Given the description of an element on the screen output the (x, y) to click on. 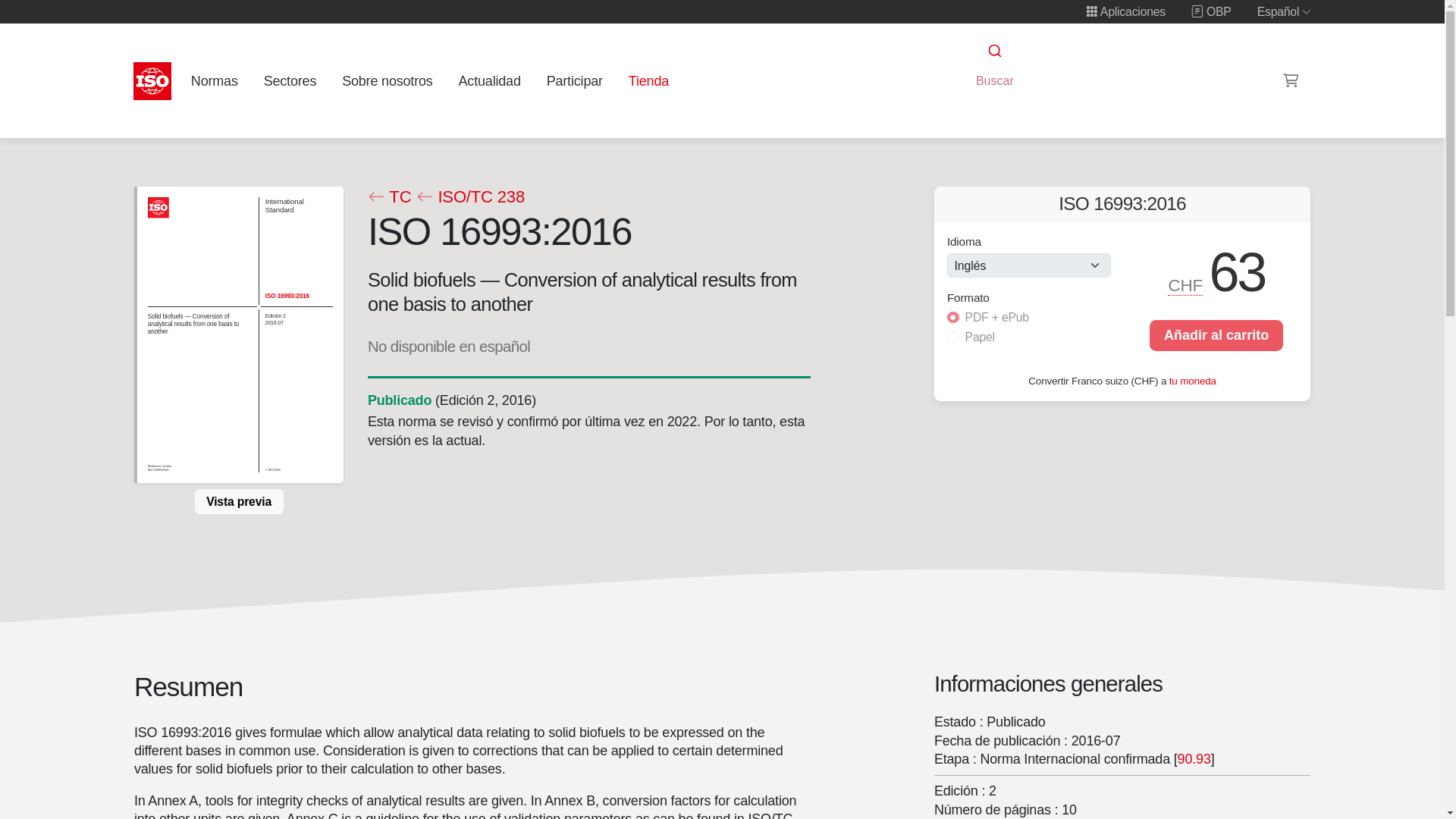
Carro de la compra (1290, 80)
Publicado (398, 400)
Ciclo de vida (398, 400)
tu moneda (1192, 379)
Sobre nosotros (387, 80)
Normas (214, 80)
Vista previa (237, 501)
Submit (993, 51)
Actualidad (489, 80)
Francos suizos (1186, 285)
Portal de aplicaciones de ISO (1126, 11)
 OBP (1211, 11)
